Given the description of an element on the screen output the (x, y) to click on. 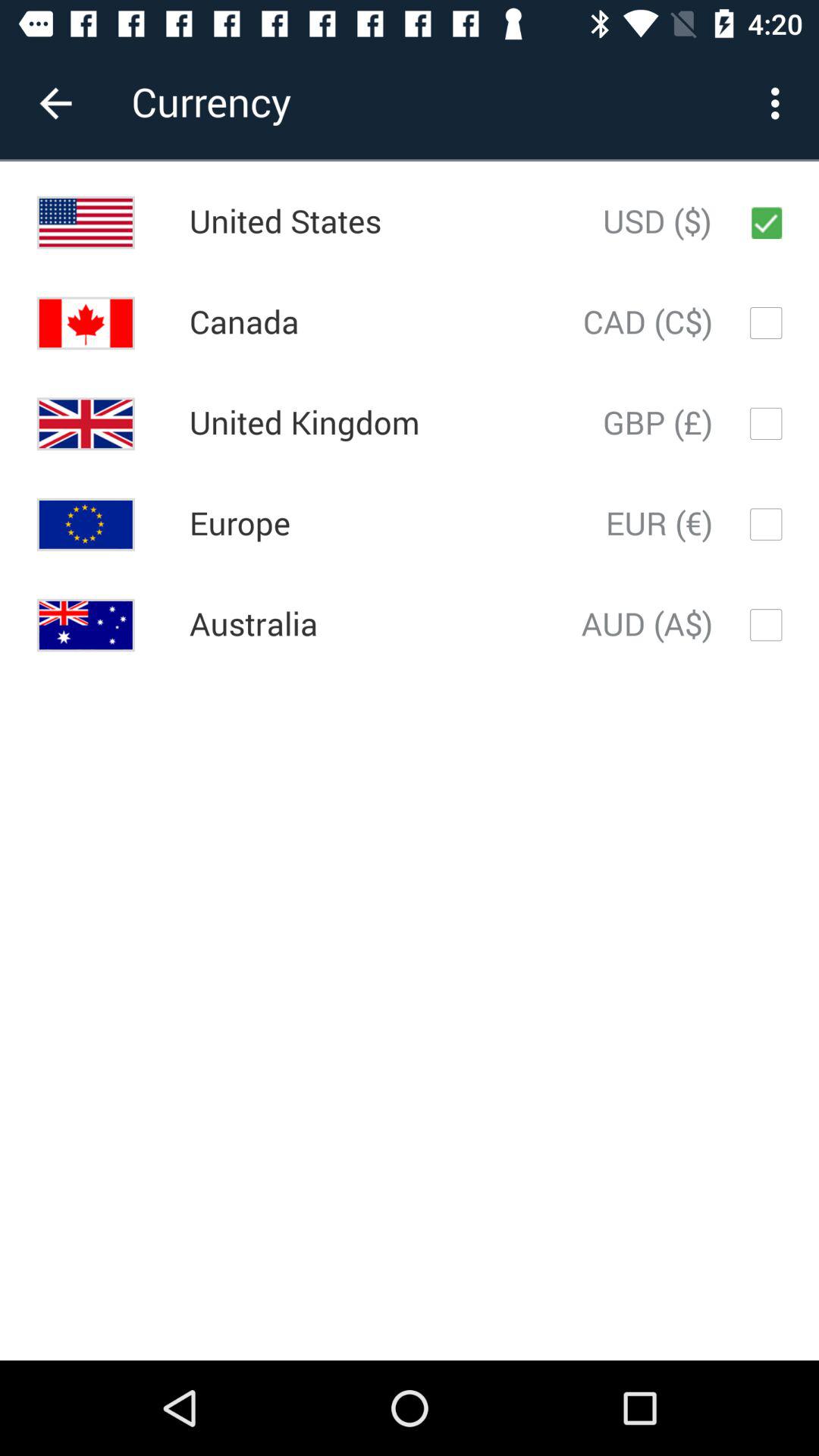
turn off icon next to currency (55, 103)
